Given the description of an element on the screen output the (x, y) to click on. 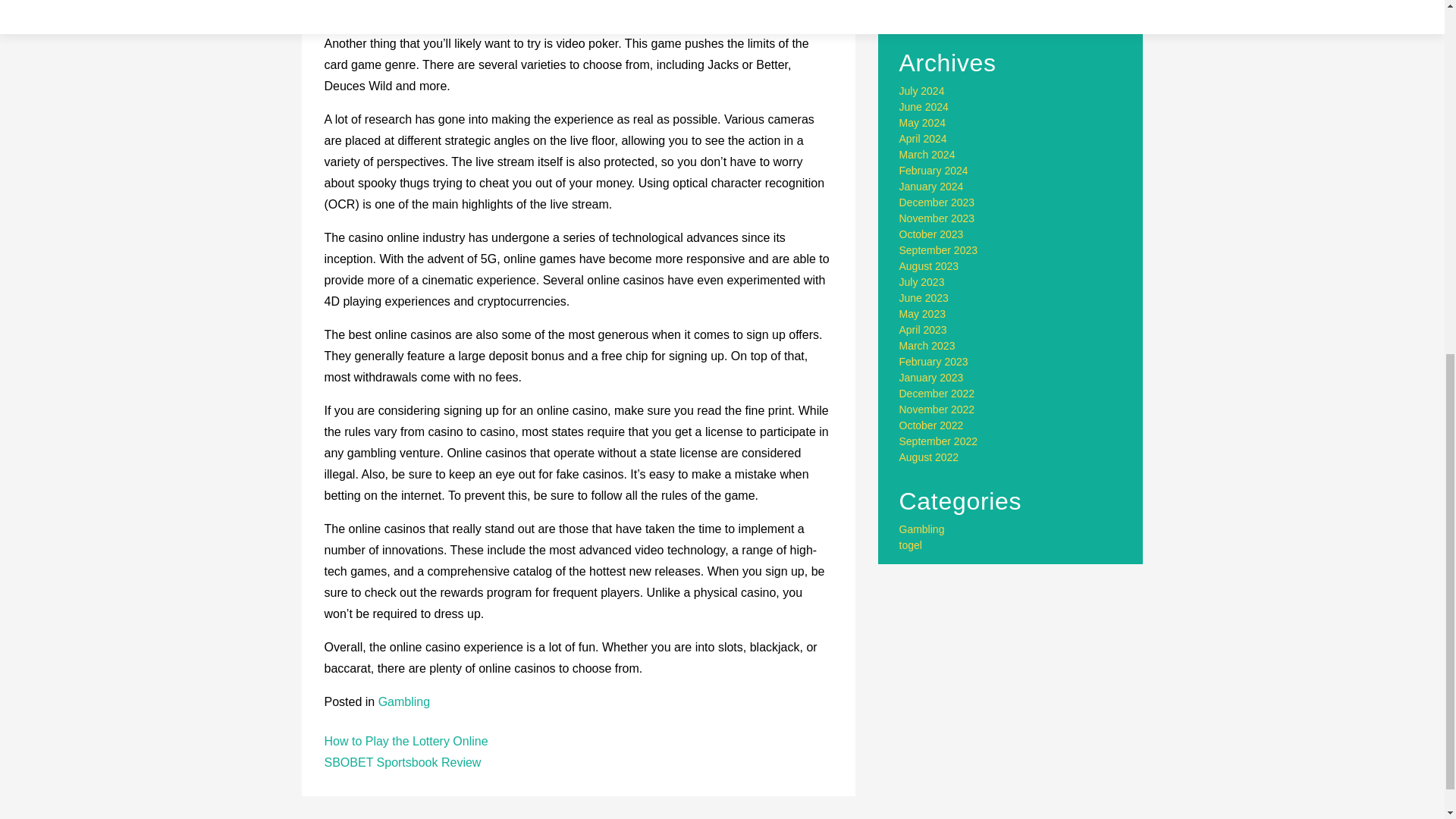
March 2024 (927, 154)
Gambling (403, 701)
January 2024 (931, 186)
May 2024 (921, 122)
January 2023 (931, 377)
August 2022 (929, 457)
December 2023 (937, 202)
A WordPress Commenter (995, 1)
September 2022 (938, 440)
October 2023 (931, 234)
July 2023 (921, 282)
September 2023 (938, 250)
April 2023 (923, 329)
Hello world! (1019, 7)
March 2023 (927, 345)
